Given the description of an element on the screen output the (x, y) to click on. 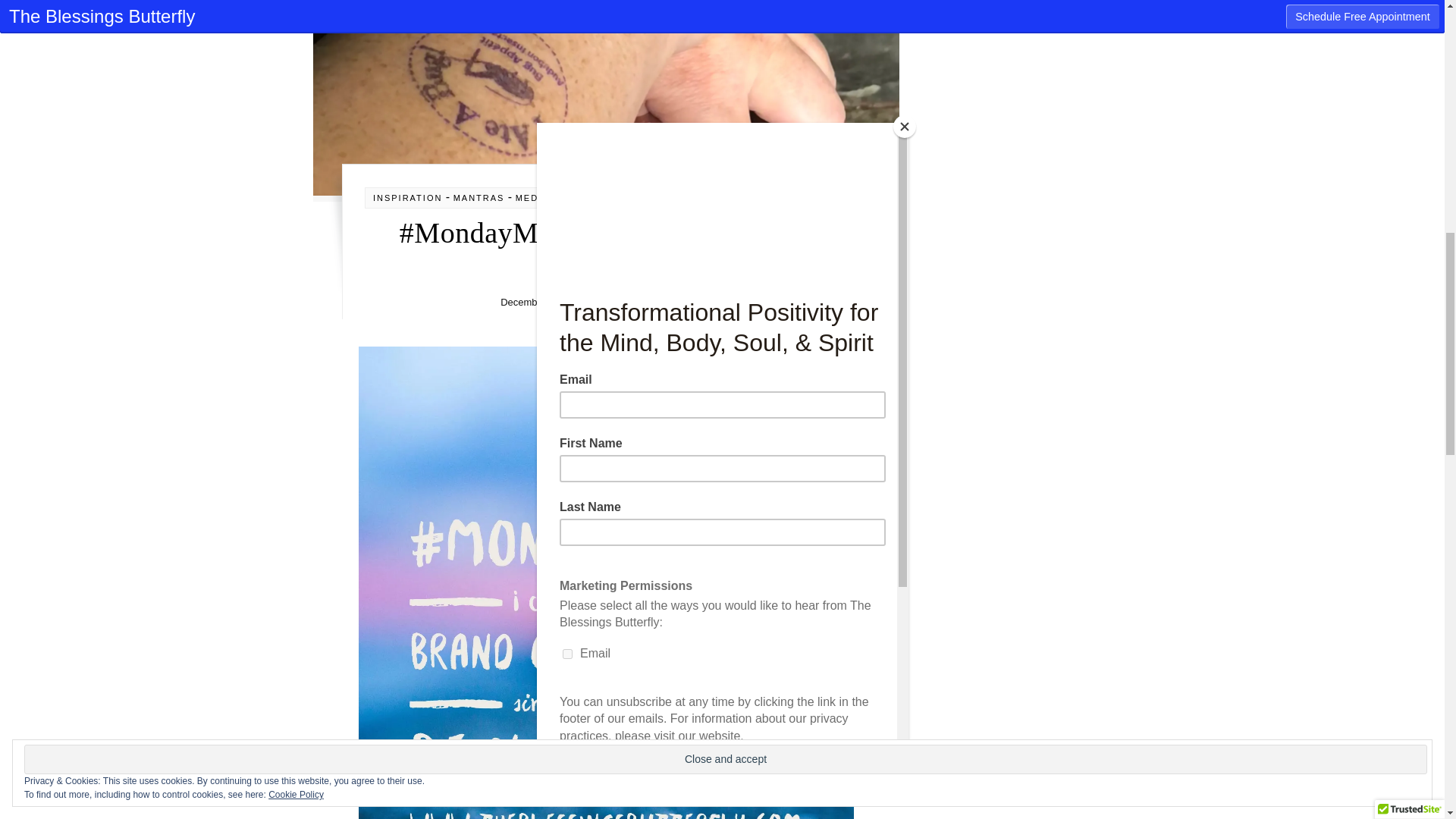
Posts by The Blessings Butterfly (660, 301)
